Given the description of an element on the screen output the (x, y) to click on. 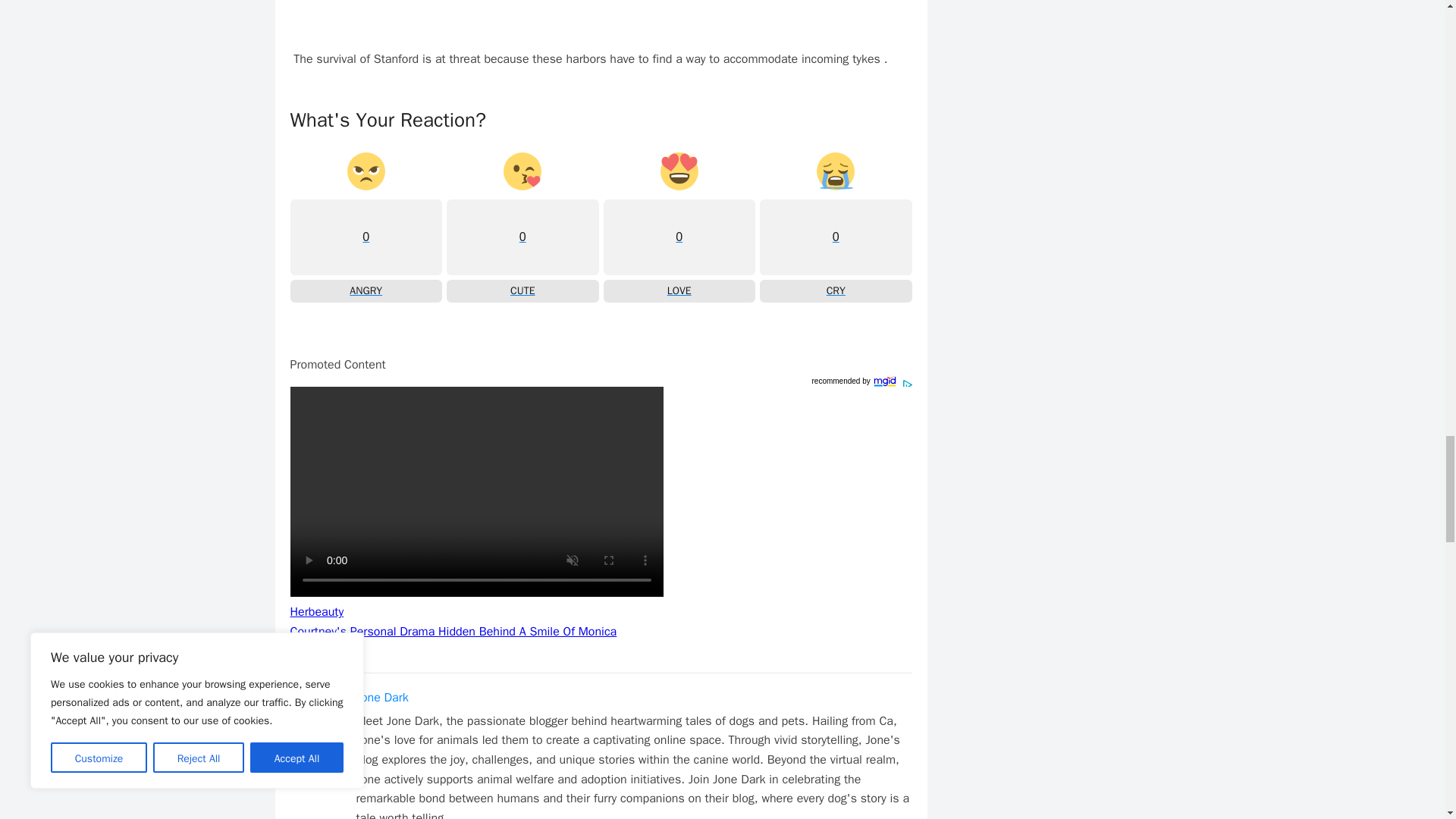
Jone Dark (382, 697)
